Given the description of an element on the screen output the (x, y) to click on. 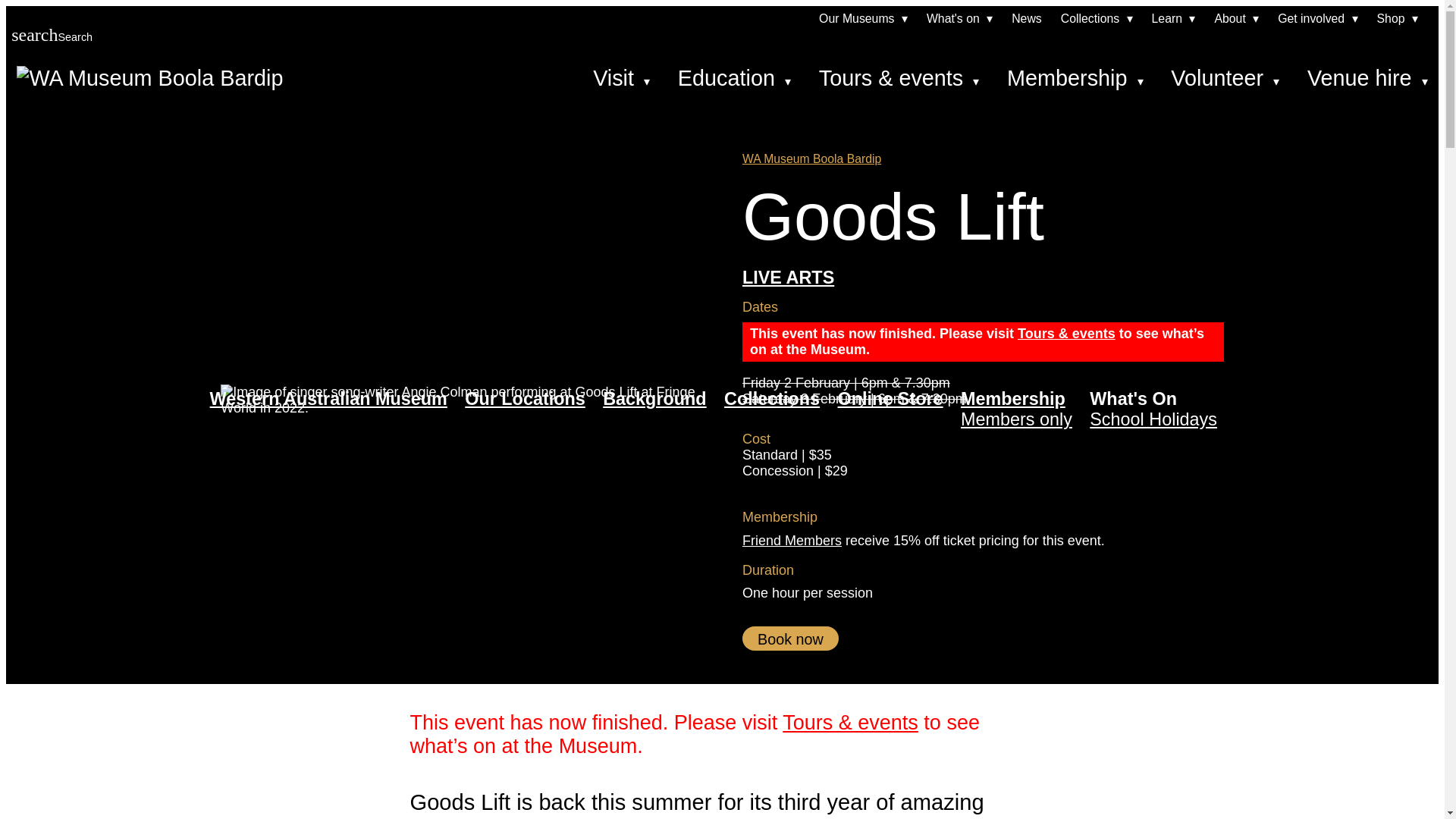
News (1026, 18)
